Given the description of an element on the screen output the (x, y) to click on. 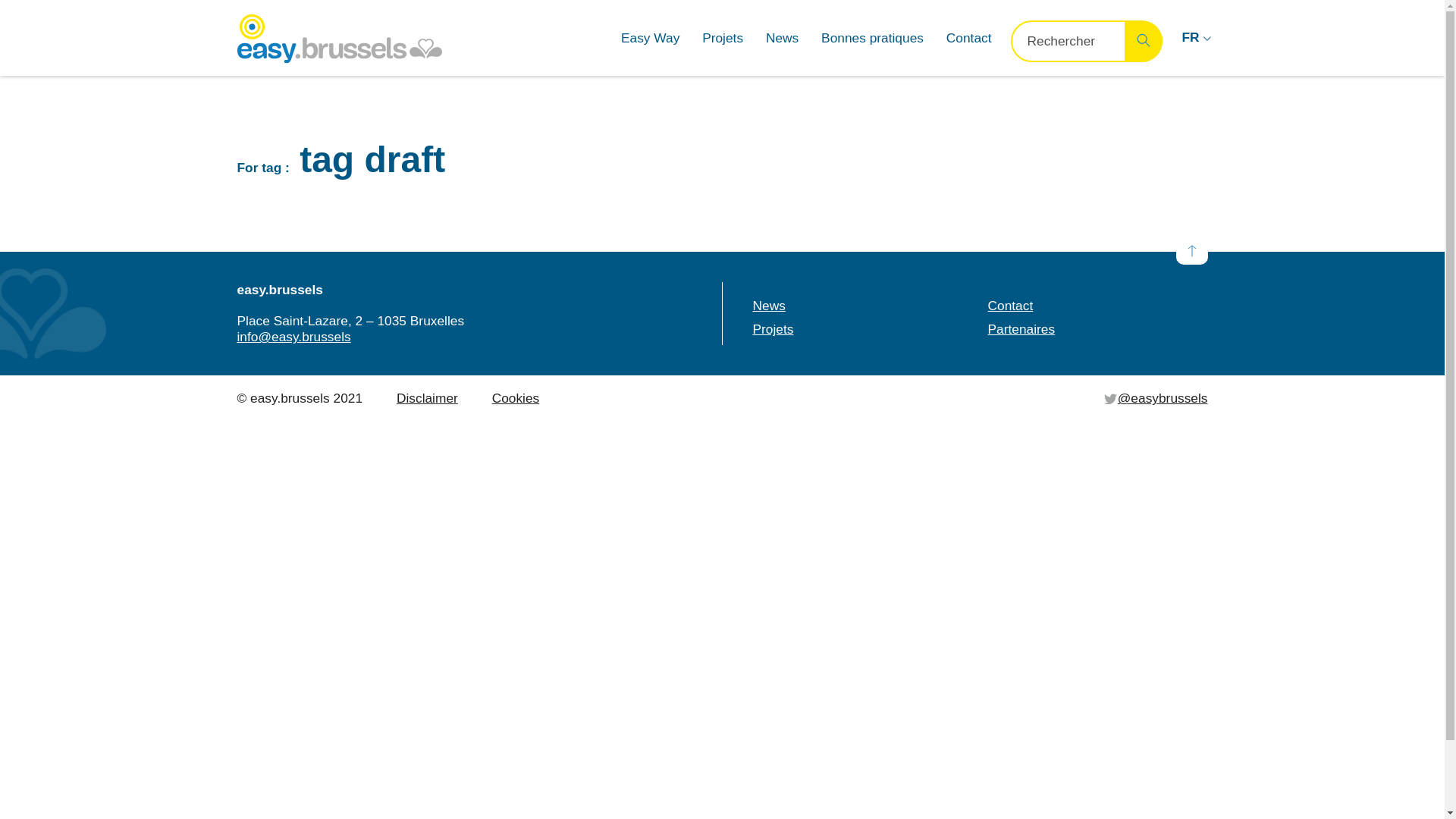
Projets Element type: text (722, 37)
Contact Element type: text (968, 37)
Bonnes pratiques Element type: text (872, 37)
Cookies Element type: text (515, 397)
info@easy.brussels Element type: text (293, 336)
FR Element type: text (1193, 37)
News Element type: text (768, 305)
Contact Element type: text (1009, 305)
Partenaires Element type: text (1020, 328)
Easy Way Element type: text (650, 37)
@easybrussels Element type: text (1156, 397)
Projets Element type: text (772, 328)
News Element type: text (781, 37)
Disclaimer Element type: text (427, 397)
